Given the description of an element on the screen output the (x, y) to click on. 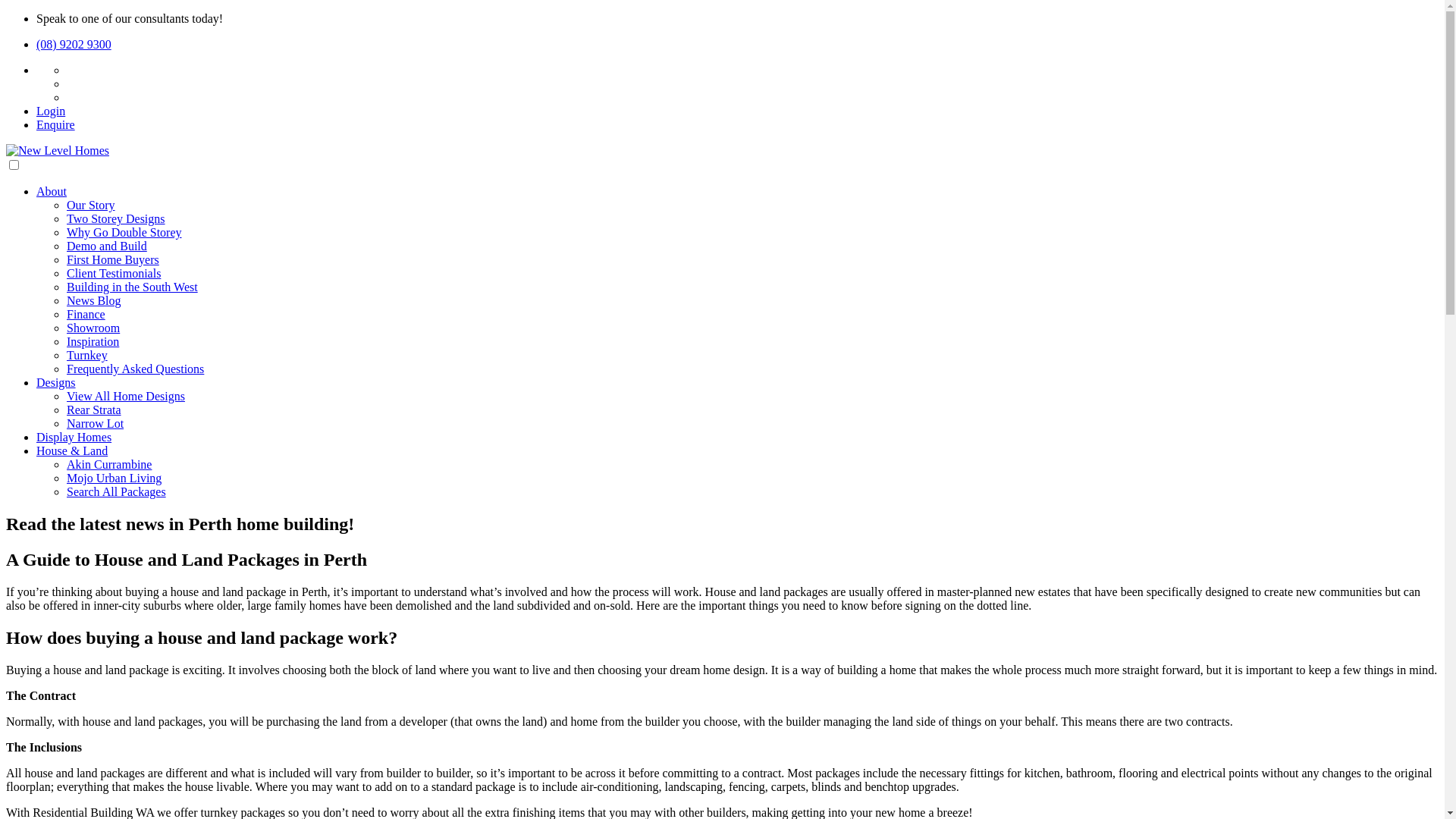
Two Storey Designs Element type: text (115, 218)
Demo and Build Element type: text (106, 245)
Building in the South West Element type: text (131, 286)
About Element type: text (51, 191)
(08) 9202 9300 Element type: text (73, 43)
Mojo Urban Living Element type: text (113, 477)
Designs Element type: text (55, 382)
Client Testimonials Element type: text (113, 272)
Search All Packages Element type: text (116, 491)
Inspiration Element type: text (92, 341)
Our Story Element type: text (90, 204)
Frequently Asked Questions Element type: text (134, 368)
Akin Currambine Element type: text (108, 464)
Enquire Element type: text (55, 124)
Turnkey Element type: text (86, 354)
Showroom Element type: text (92, 327)
First Home Buyers Element type: text (112, 259)
House & Land Element type: text (71, 450)
Login Element type: text (50, 110)
Rear Strata Element type: text (93, 409)
View All Home Designs Element type: text (125, 395)
Narrow Lot Element type: text (94, 423)
Why Go Double Storey Element type: text (124, 231)
Finance Element type: text (85, 313)
News Blog Element type: text (93, 300)
Display Homes Element type: text (73, 436)
